Given the description of an element on the screen output the (x, y) to click on. 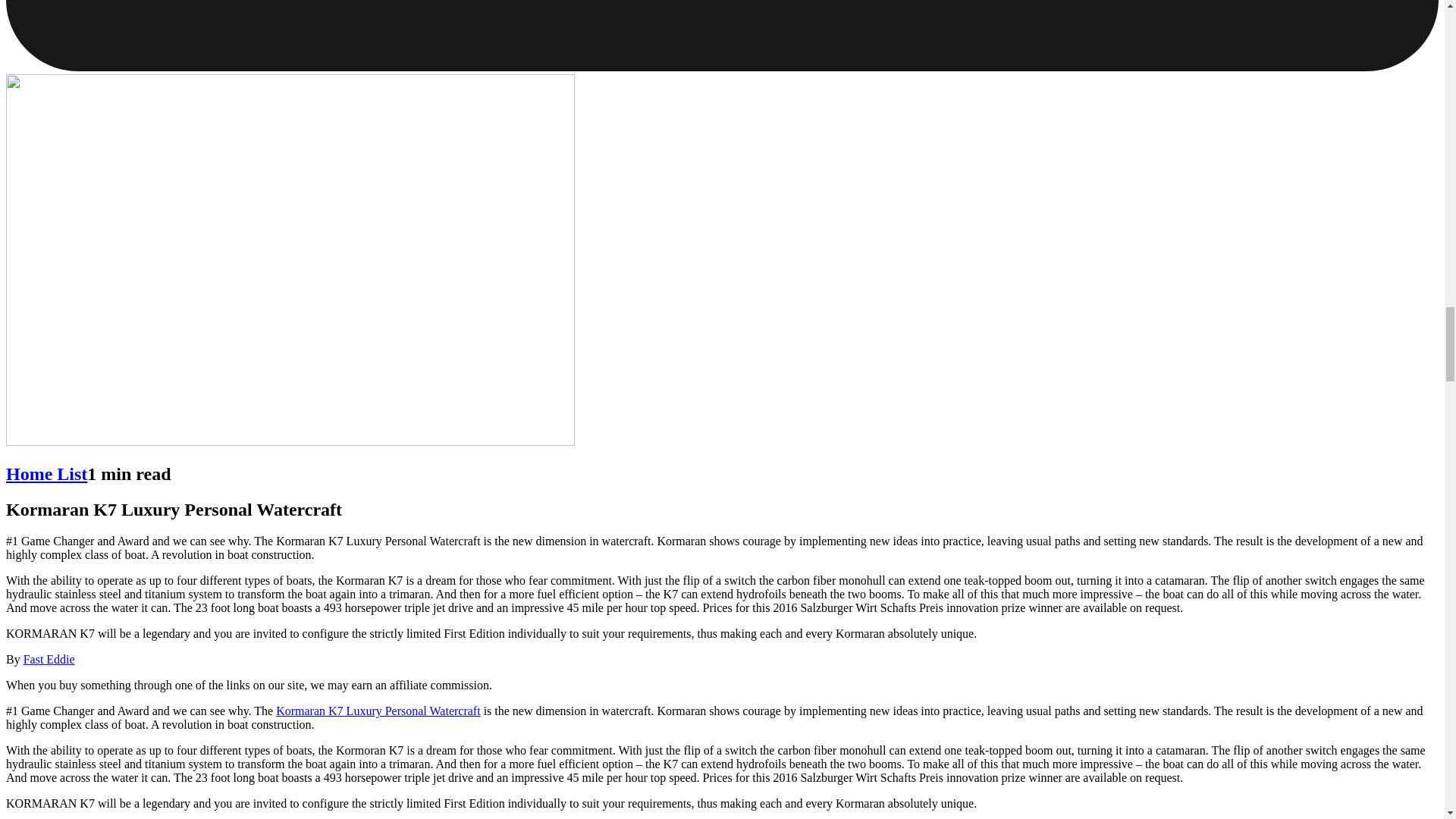
Home List (46, 474)
Kormaran K7 Luxury Personal Watercraft (378, 710)
Fast Eddie (49, 658)
